Given the description of an element on the screen output the (x, y) to click on. 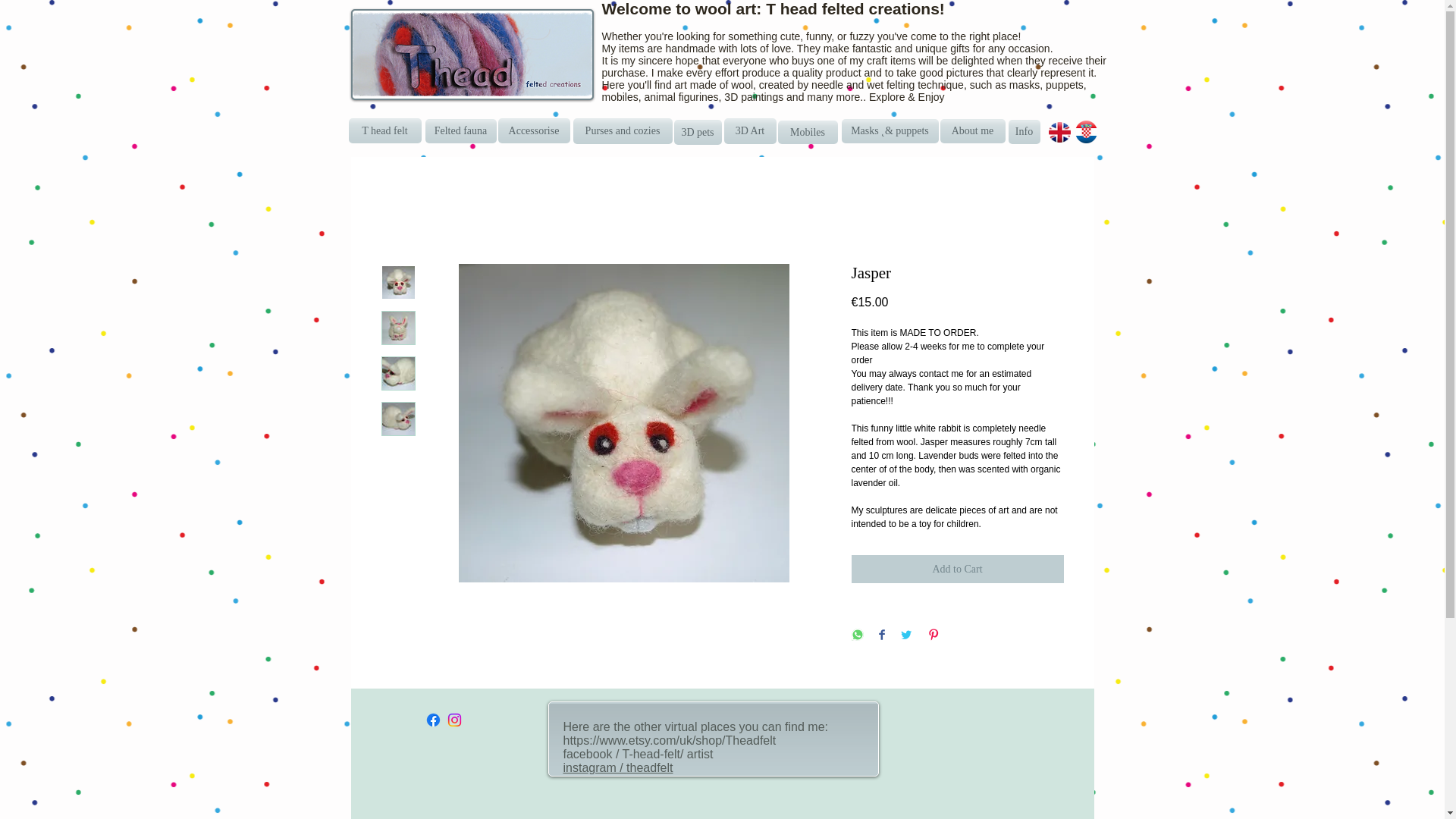
Add to Cart (956, 569)
About me (973, 130)
T head felt (385, 130)
Info (1025, 131)
Mobiles (807, 132)
3D Art (749, 130)
Felted fauna (460, 130)
3D pets (696, 131)
Accessorise (533, 130)
Purses and cozies (622, 130)
